Given the description of an element on the screen output the (x, y) to click on. 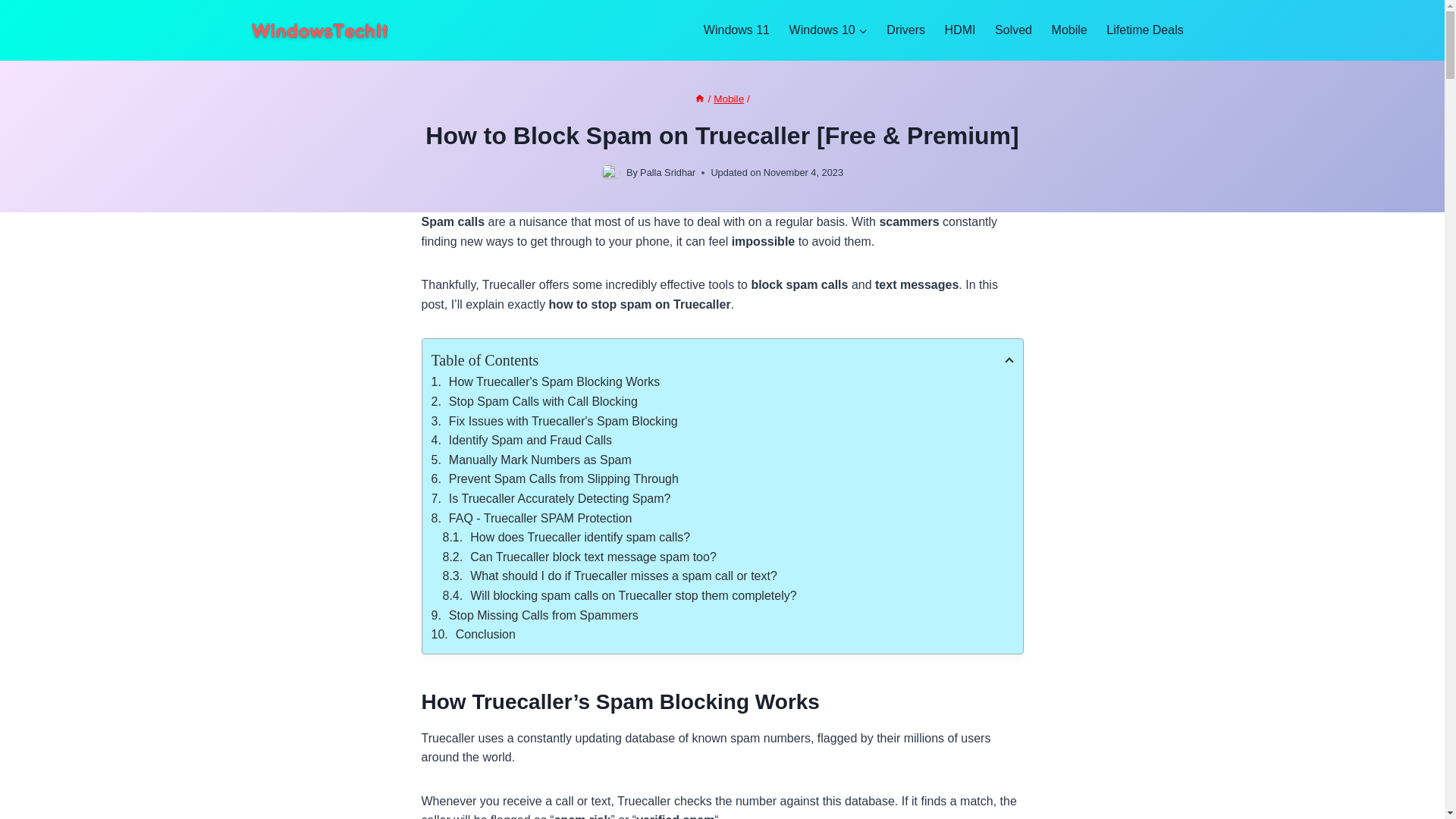
What should I do if Truecaller misses a spam call or text? (727, 576)
Windows 10 (827, 30)
FAQ - Truecaller SPAM Protection (721, 518)
How does Truecaller identify spam calls? (727, 537)
Stop Spam Calls with Call Blocking (721, 401)
Home (699, 98)
How Truecaller's Spam Blocking Works (721, 382)
Stop Missing Calls from Spammers (721, 614)
Prevent Spam Calls from Slipping Through (721, 478)
Lifetime Deals (1145, 30)
Mobile (728, 98)
Can Truecaller block text message spam too? (727, 557)
Is Truecaller Accurately Detecting Spam? (721, 498)
Will blocking spam calls on Truecaller stop them completely? (727, 596)
Mobile (1069, 30)
